Given the description of an element on the screen output the (x, y) to click on. 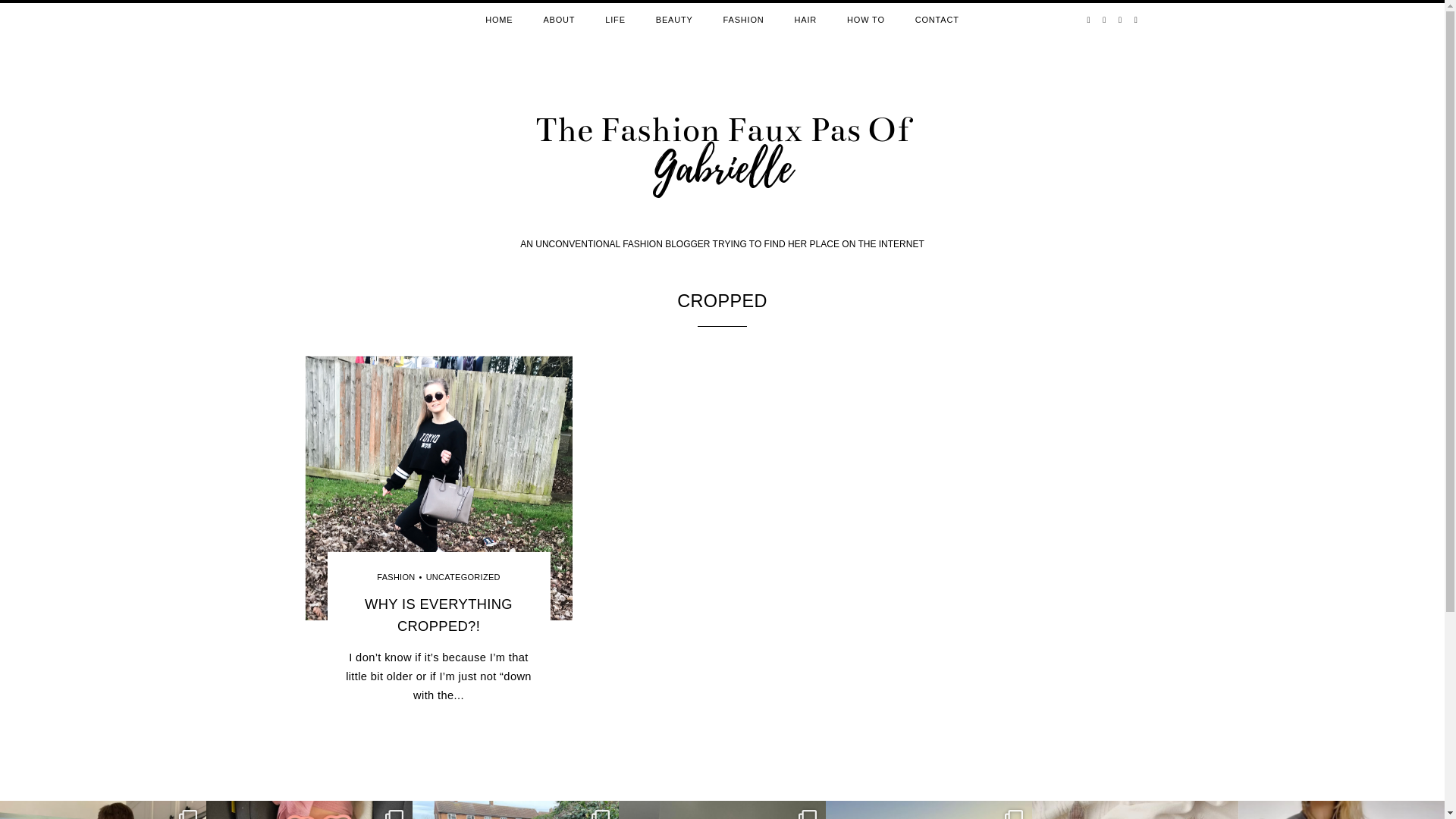
LIFE (615, 20)
CONTACT (936, 20)
ABOUT (558, 20)
HOME (498, 20)
BEAUTY (674, 20)
HOW TO (865, 20)
HAIR (805, 20)
FASHION (743, 20)
